Given the description of an element on the screen output the (x, y) to click on. 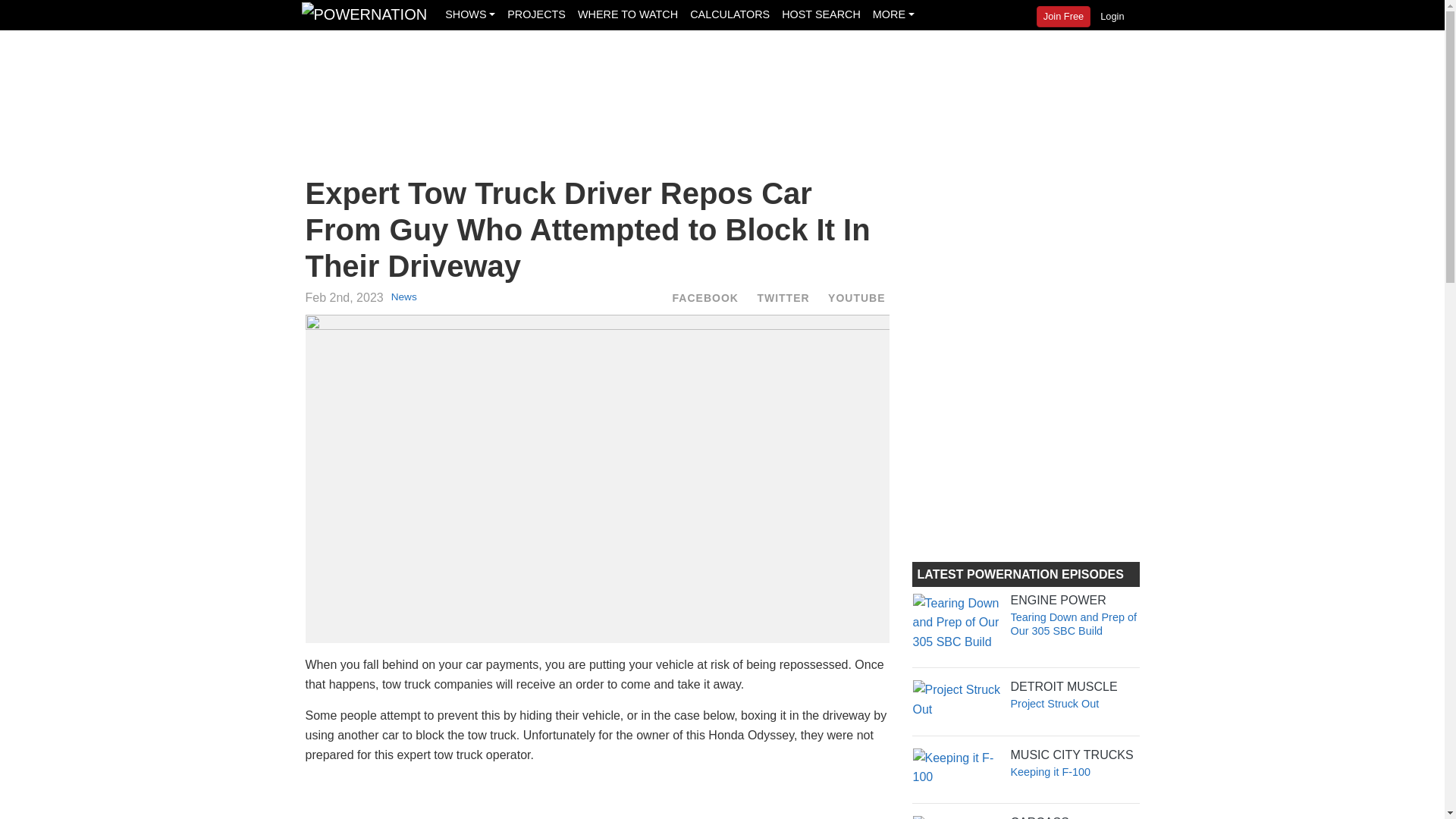
Tearing Down and Prep of Our 305 SBC Build (1072, 623)
FACEBOOK (705, 297)
HOST SEARCH (821, 14)
YOUTUBE (856, 297)
TWITTER (782, 297)
MORE (893, 14)
PROJECTS (536, 14)
SHOWS (469, 14)
CALCULATORS (730, 14)
Login (1112, 16)
